Given the description of an element on the screen output the (x, y) to click on. 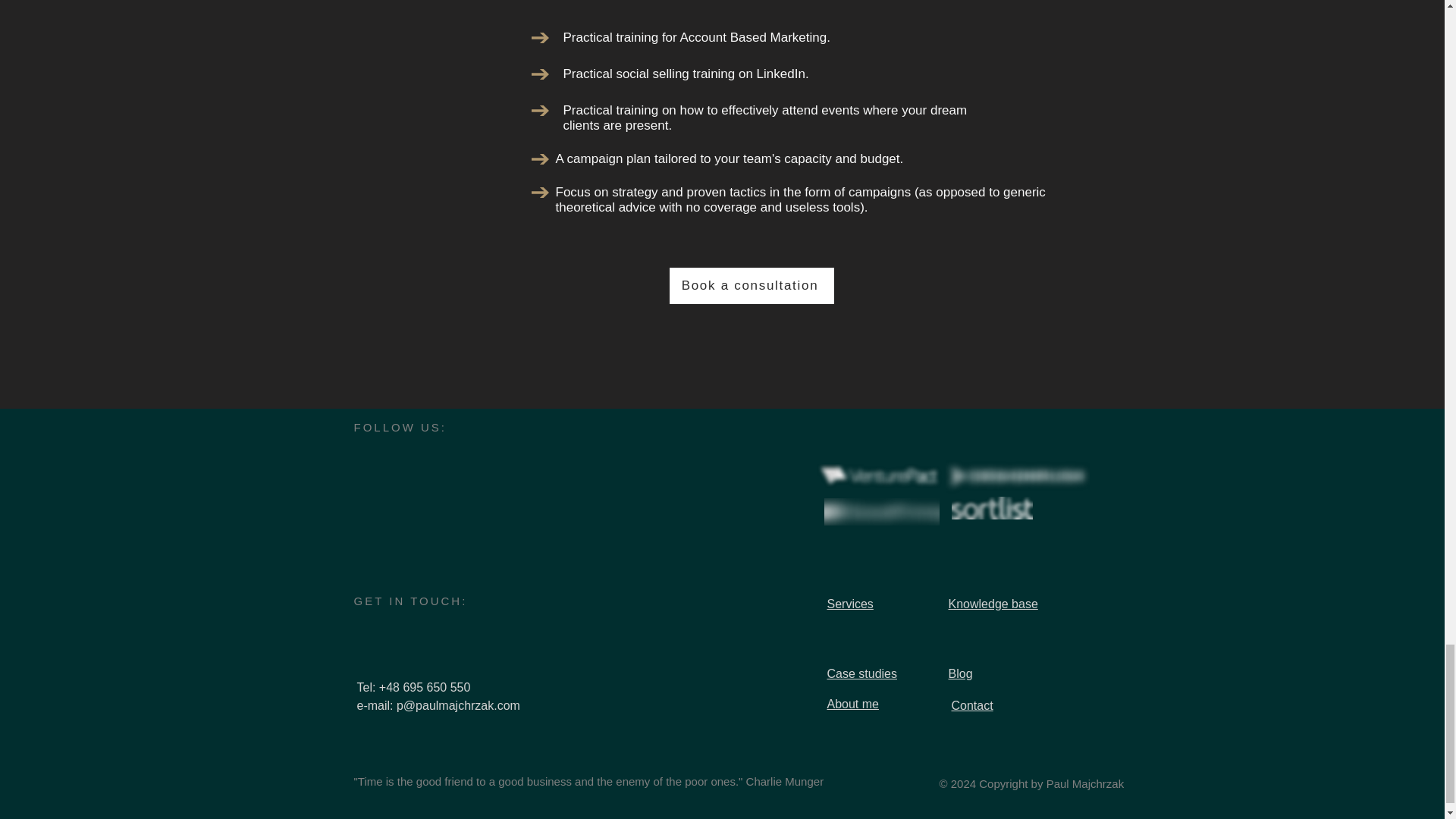
Contact (971, 705)
Knowledge base (991, 603)
About me (852, 703)
Get started (725, 258)
Services (849, 603)
Blog (959, 673)
Book a consultation (750, 285)
Case studies (861, 673)
